Given the description of an element on the screen output the (x, y) to click on. 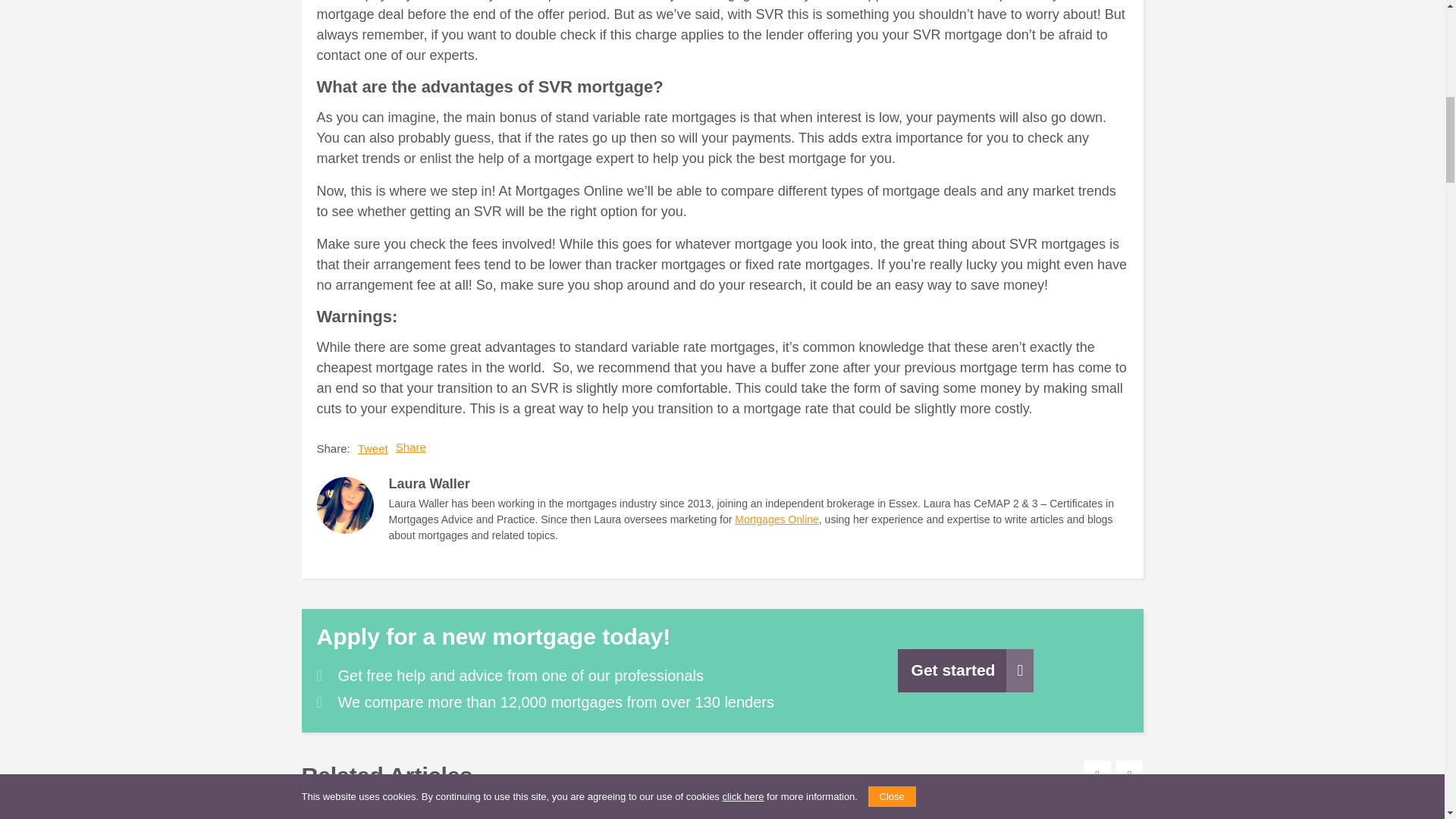
Share (411, 446)
Mortgages Online (776, 519)
Get started (965, 670)
Tweet (373, 448)
